Given the description of an element on the screen output the (x, y) to click on. 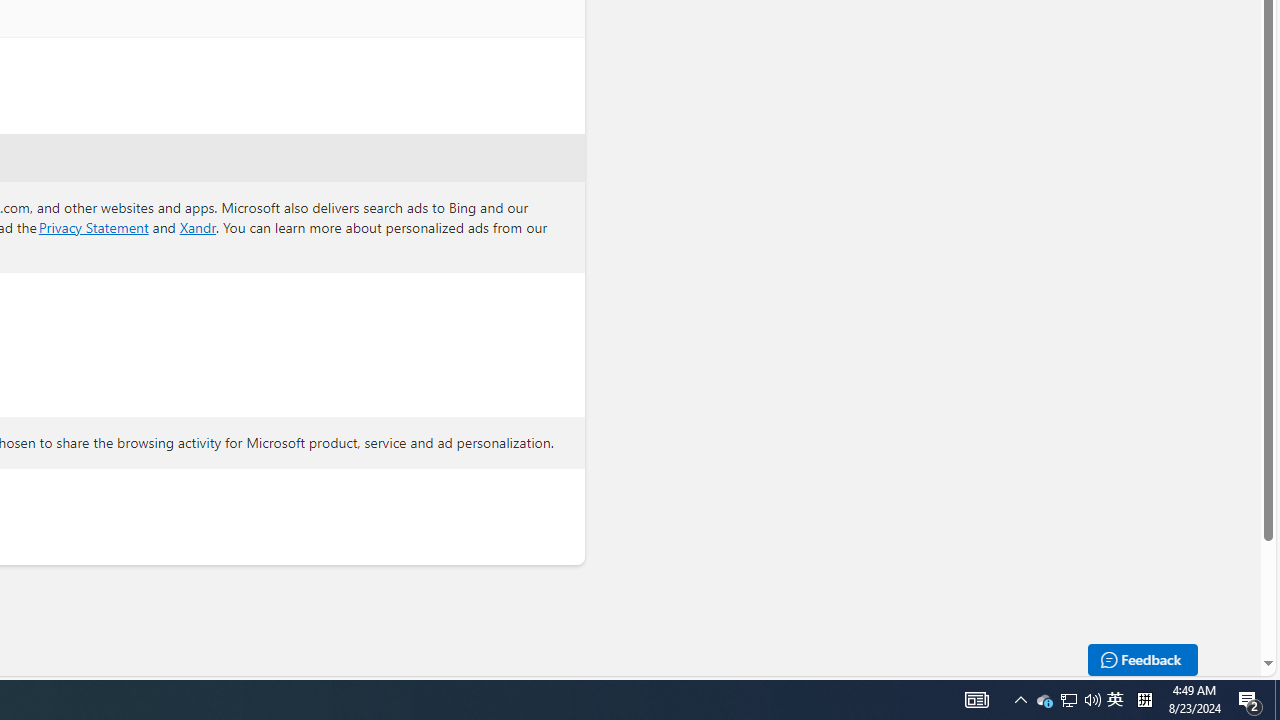
Xandr (198, 226)
Privacy Statement (93, 226)
